Given the description of an element on the screen output the (x, y) to click on. 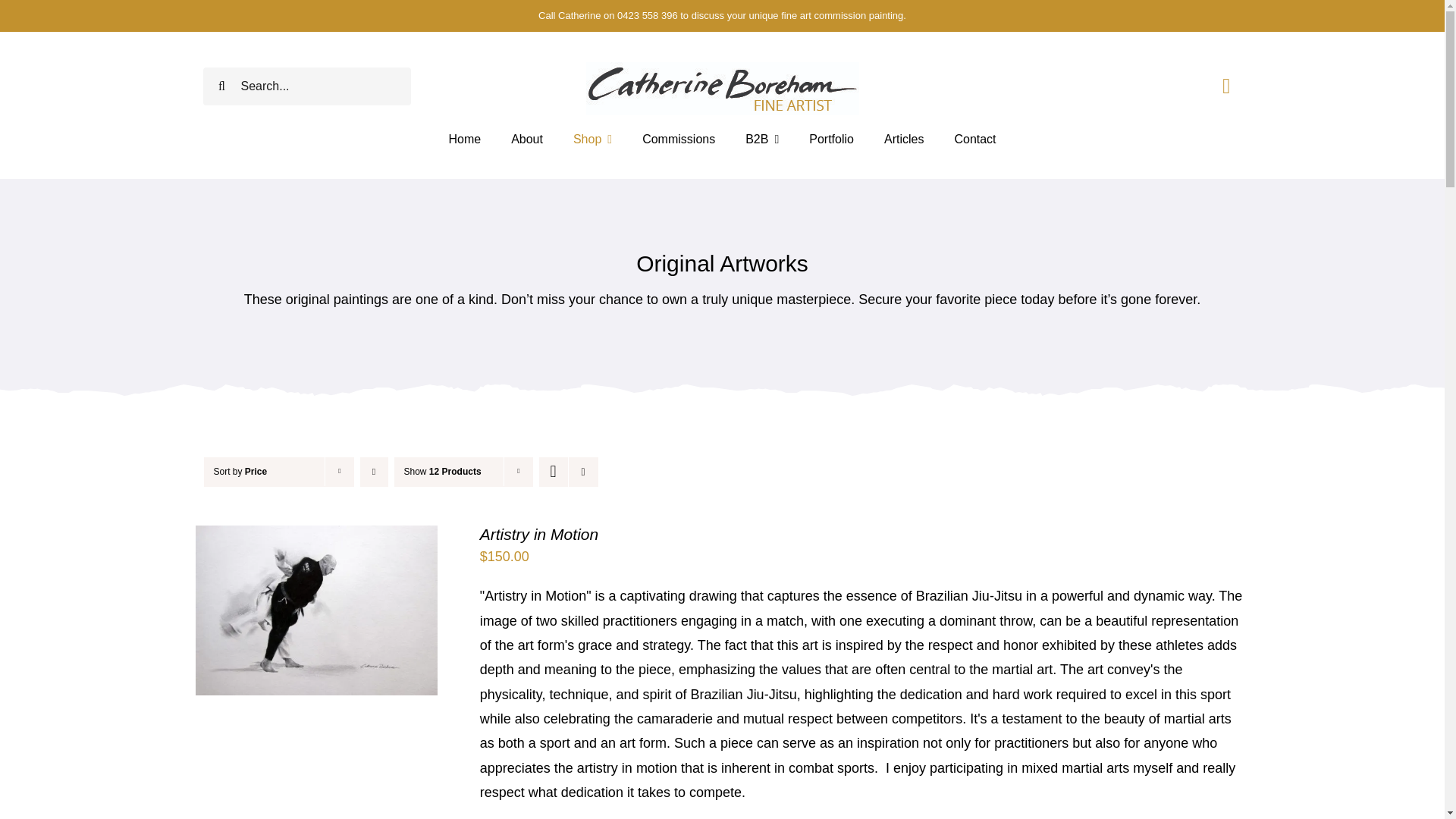
Contact (974, 139)
About (527, 139)
Articles (903, 139)
Portfolio (831, 139)
0423 558 396 (647, 15)
Commissions (678, 139)
Home (464, 139)
B2B (761, 139)
Shop (592, 139)
Log In (1382, 268)
black gold 1x (722, 88)
